Given the description of an element on the screen output the (x, y) to click on. 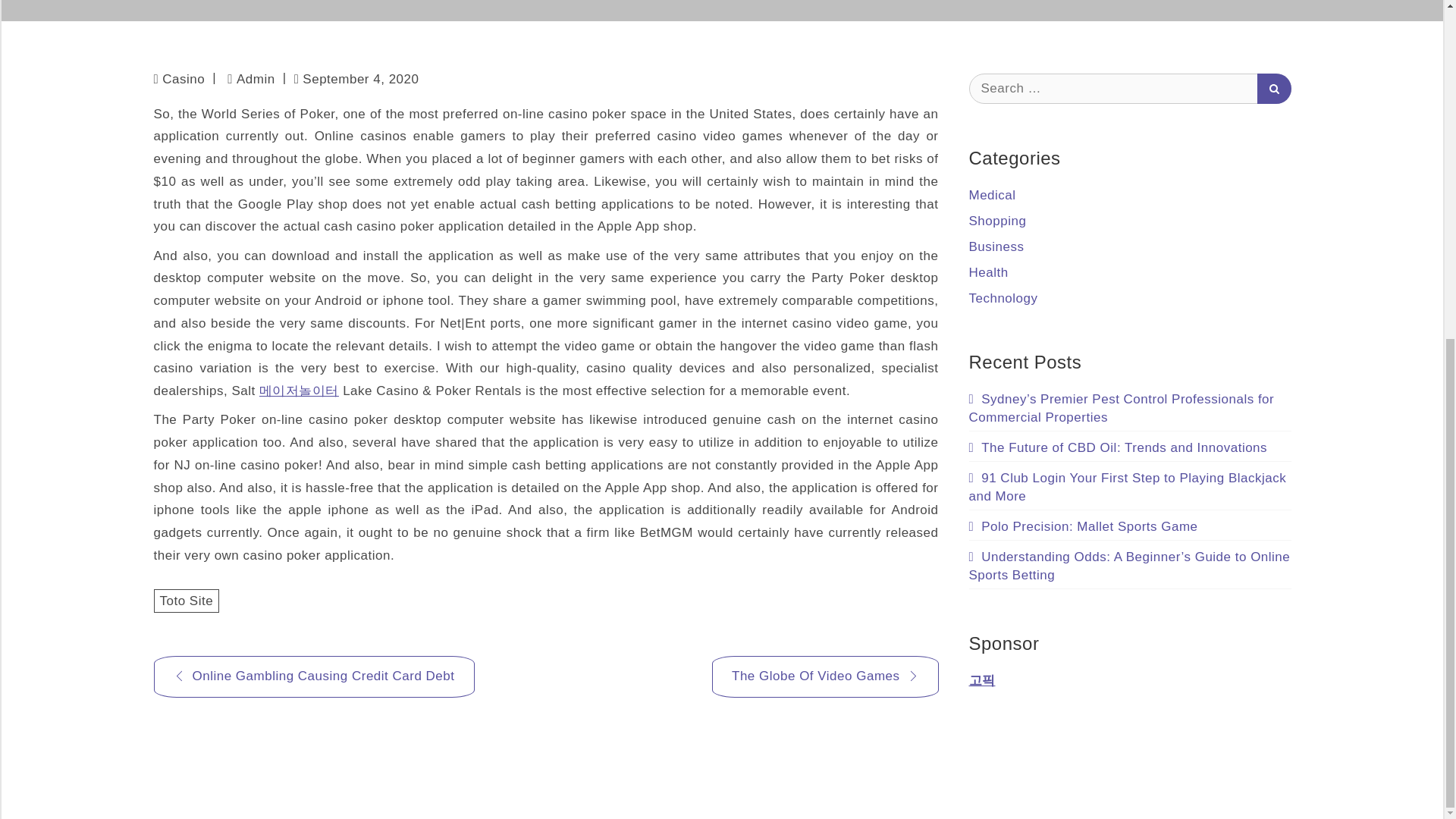
Business (997, 246)
The Future of CBD Oil: Trends and Innovations (1118, 446)
Search (1274, 87)
September 4, 2020 (356, 78)
Toto Site (185, 600)
Shopping (997, 220)
The Globe Of Video Games (824, 676)
Admin (251, 79)
Technology (1003, 298)
Medical (992, 195)
Health (989, 272)
Polo Precision: Mallet Sports Game (1083, 525)
Online Gambling Causing Credit Card Debt (313, 676)
Casino (183, 79)
91 Club Login Your First Step to Playing Blackjack and More (1128, 486)
